Given the description of an element on the screen output the (x, y) to click on. 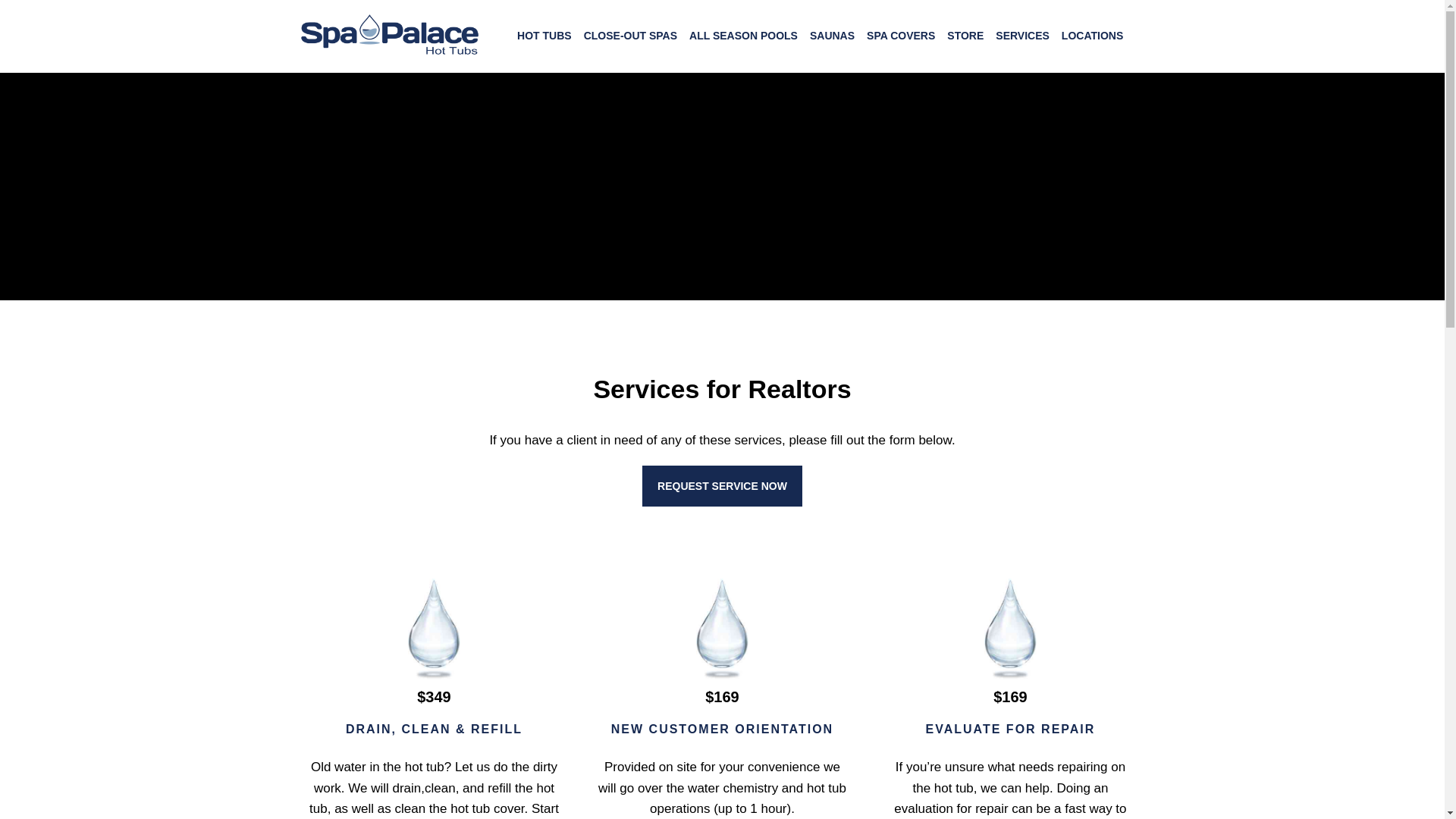
Services for Realtors - Spa Palace (721, 629)
HOT TUBS (544, 35)
SPA COVERS (900, 35)
SERVICES (1022, 35)
ALL SEASON POOLS (742, 35)
Services for Realtors - Spa Palace (433, 629)
SAUNAS (831, 35)
CLOSE-OUT SPAS (630, 35)
Services for Realtors - Spa Palace (1010, 629)
STORE (965, 35)
LOCATIONS (1092, 35)
